Given the description of an element on the screen output the (x, y) to click on. 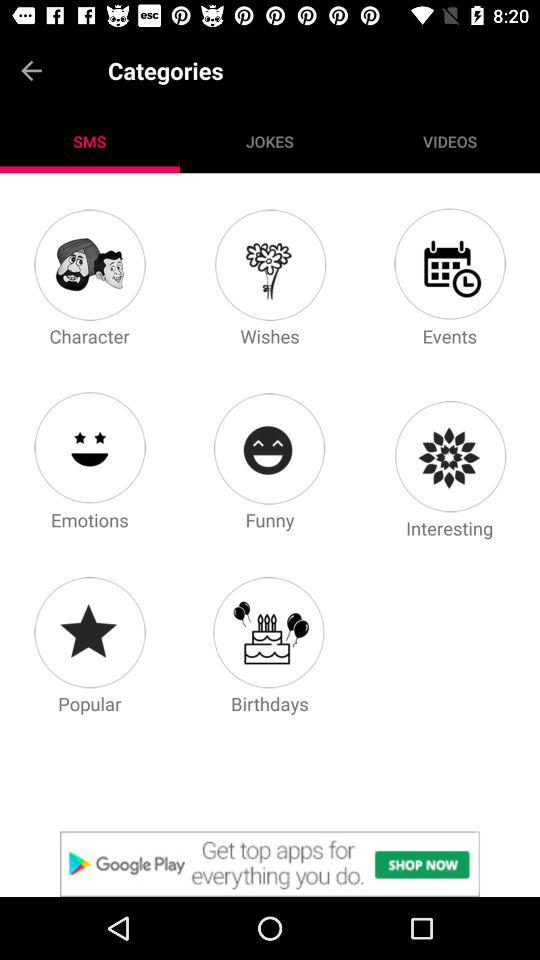
to see the popular sms (89, 632)
